Given the description of an element on the screen output the (x, y) to click on. 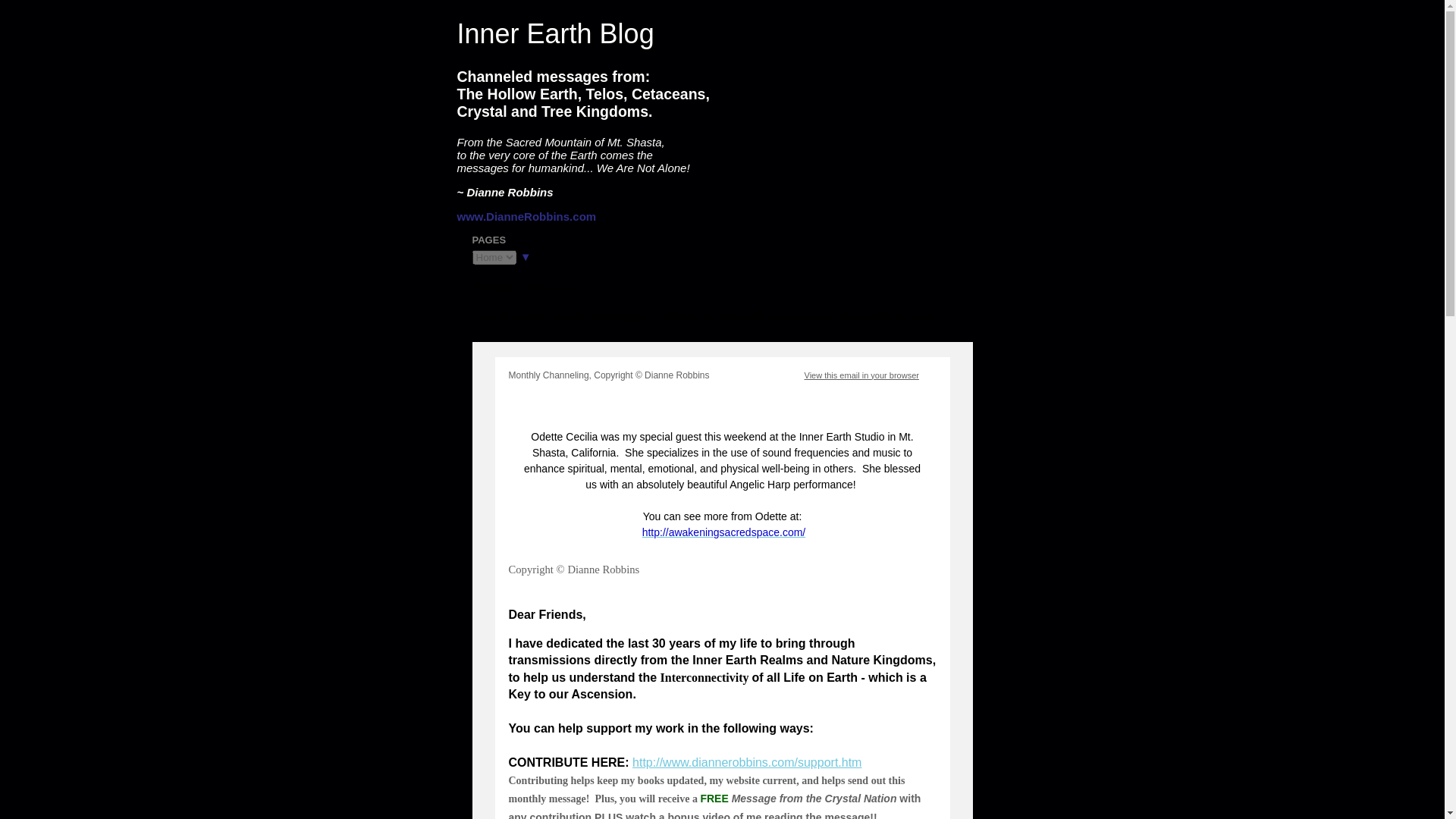
View this email in your browser (860, 375)
Basic - 1 Column (551, 375)
Inner Earth Blog (555, 33)
www.DianneRobbins.com (526, 215)
